Given the description of an element on the screen output the (x, y) to click on. 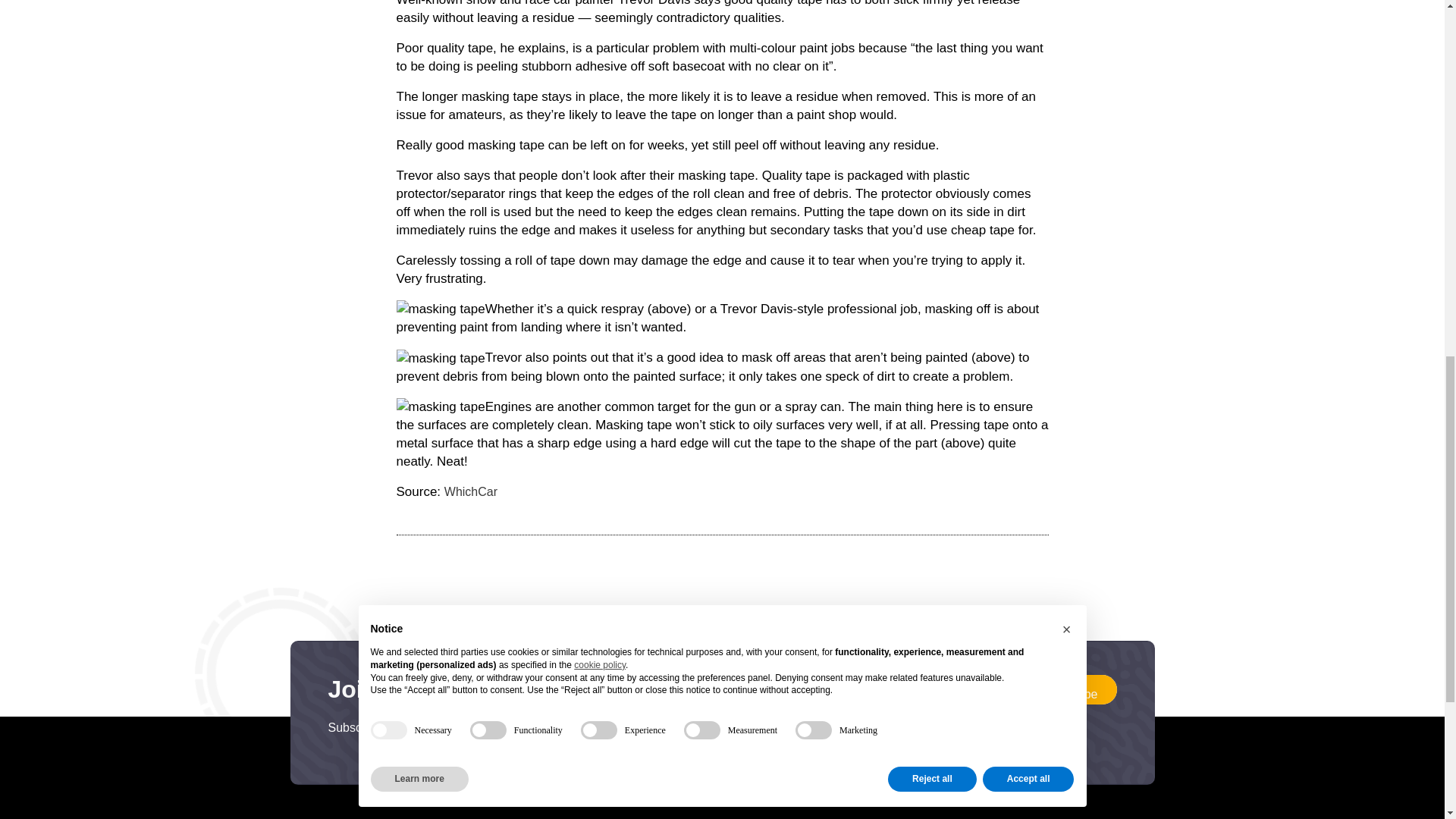
WhichCar (470, 491)
Subscribe (1070, 689)
1 (727, 733)
Subscribe (1070, 689)
